Given the description of an element on the screen output the (x, y) to click on. 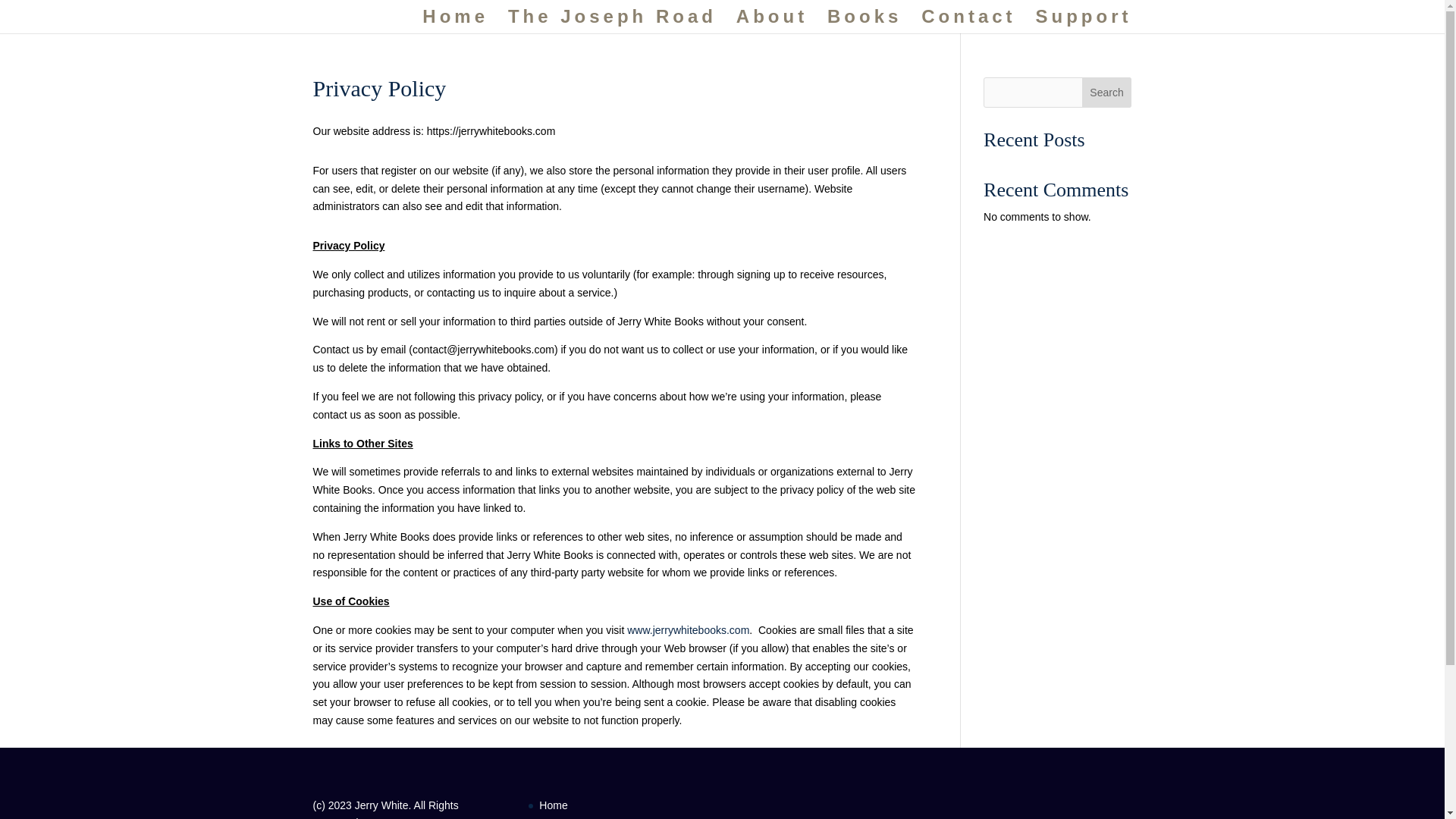
About (772, 22)
Books (864, 22)
Home (454, 22)
Support (1083, 22)
www.jerrywhitebooks.com (688, 630)
Search (1106, 91)
The Joseph Road (612, 22)
Contact (967, 22)
Home (552, 805)
